Given the description of an element on the screen output the (x, y) to click on. 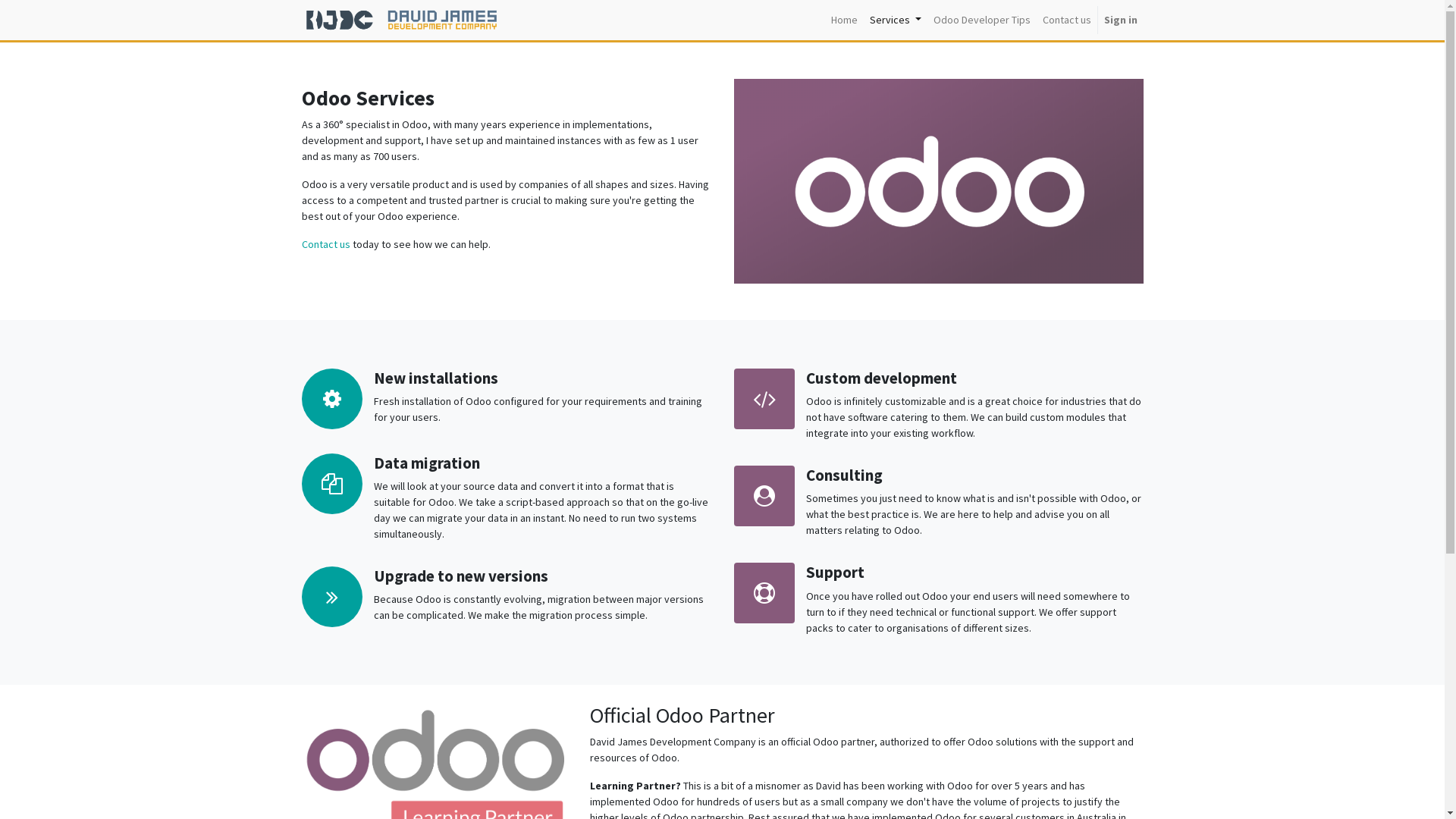
Sign in Element type: text (1120, 20)
Odoo Developer Tips Element type: text (980, 20)
Contact us Element type: text (1065, 20)
Contact us Element type: text (325, 244)
Services Element type: text (895, 20)
David James Development Company Element type: hover (402, 18)
Home Element type: text (844, 20)
